Given the description of an element on the screen output the (x, y) to click on. 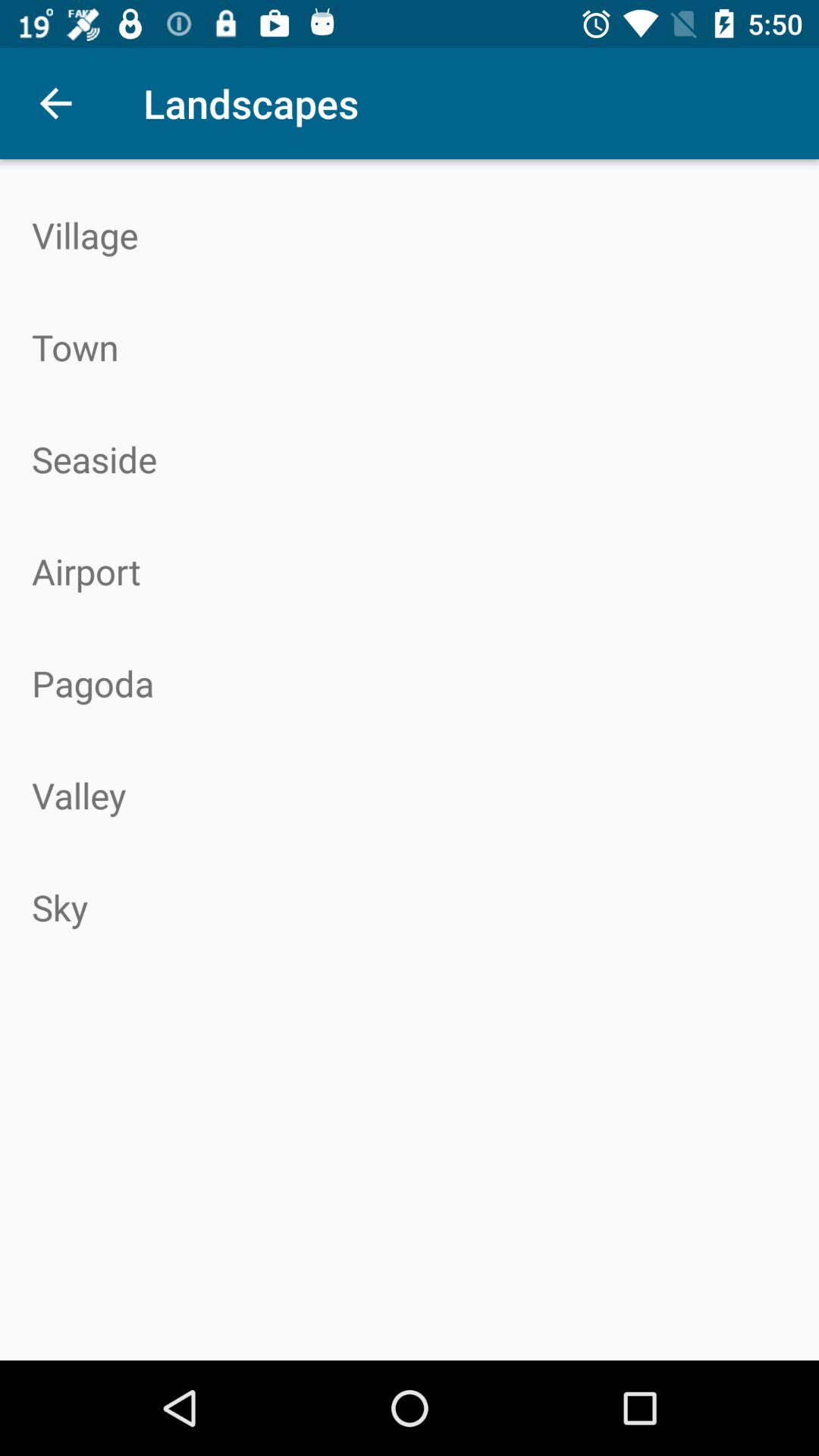
select icon above airport (409, 459)
